Given the description of an element on the screen output the (x, y) to click on. 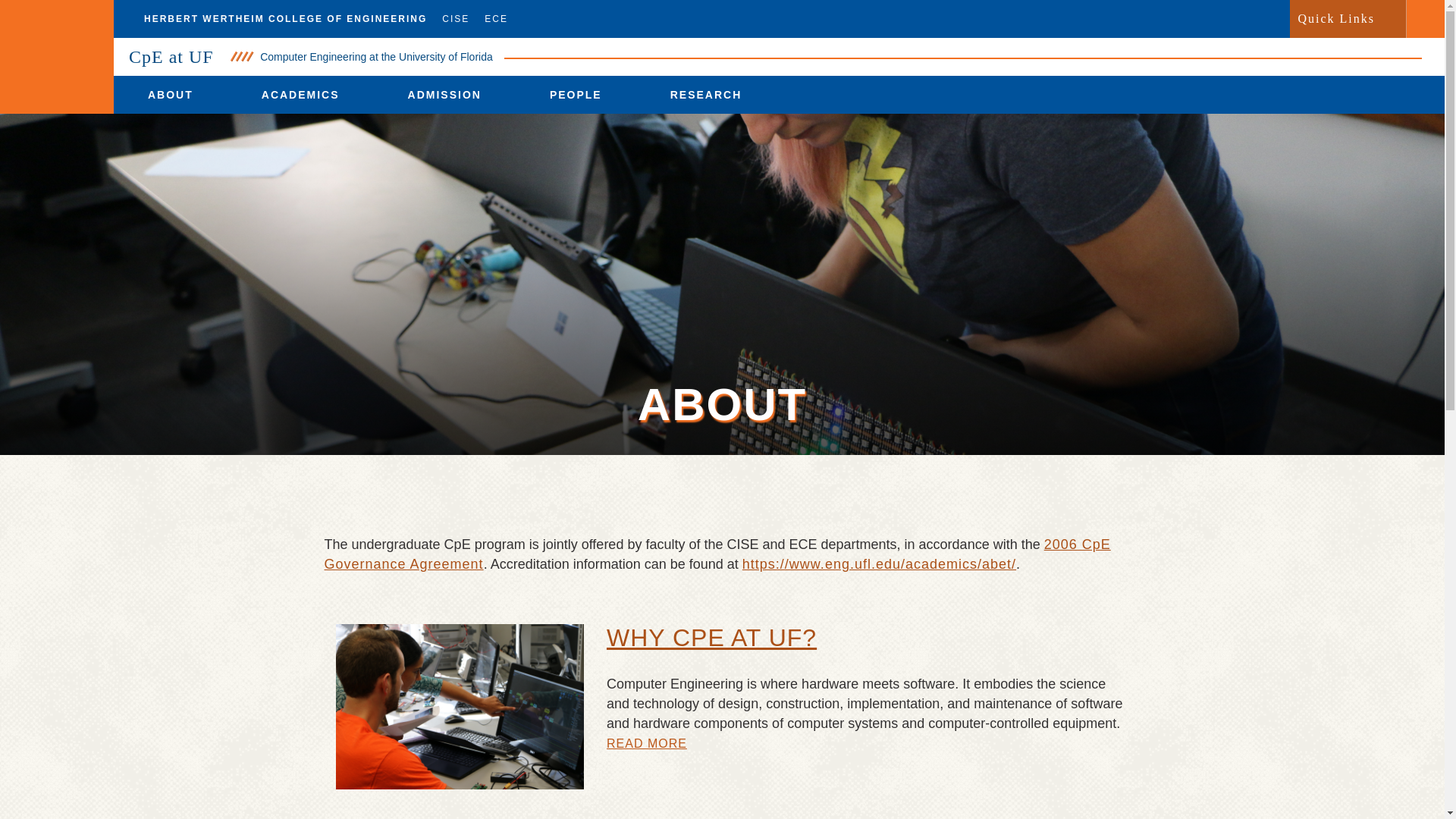
ECE (499, 18)
ACADEMICS (300, 94)
University of Florida (56, 56)
PEOPLE (575, 94)
CISE (455, 18)
CpE at UF (171, 56)
ABOUT (170, 94)
Quick Links (1334, 18)
HERBERT WERTHEIM COLLEGE OF ENGINEERING (276, 18)
RESEARCH (706, 94)
ADMISSION (444, 94)
